Given the description of an element on the screen output the (x, y) to click on. 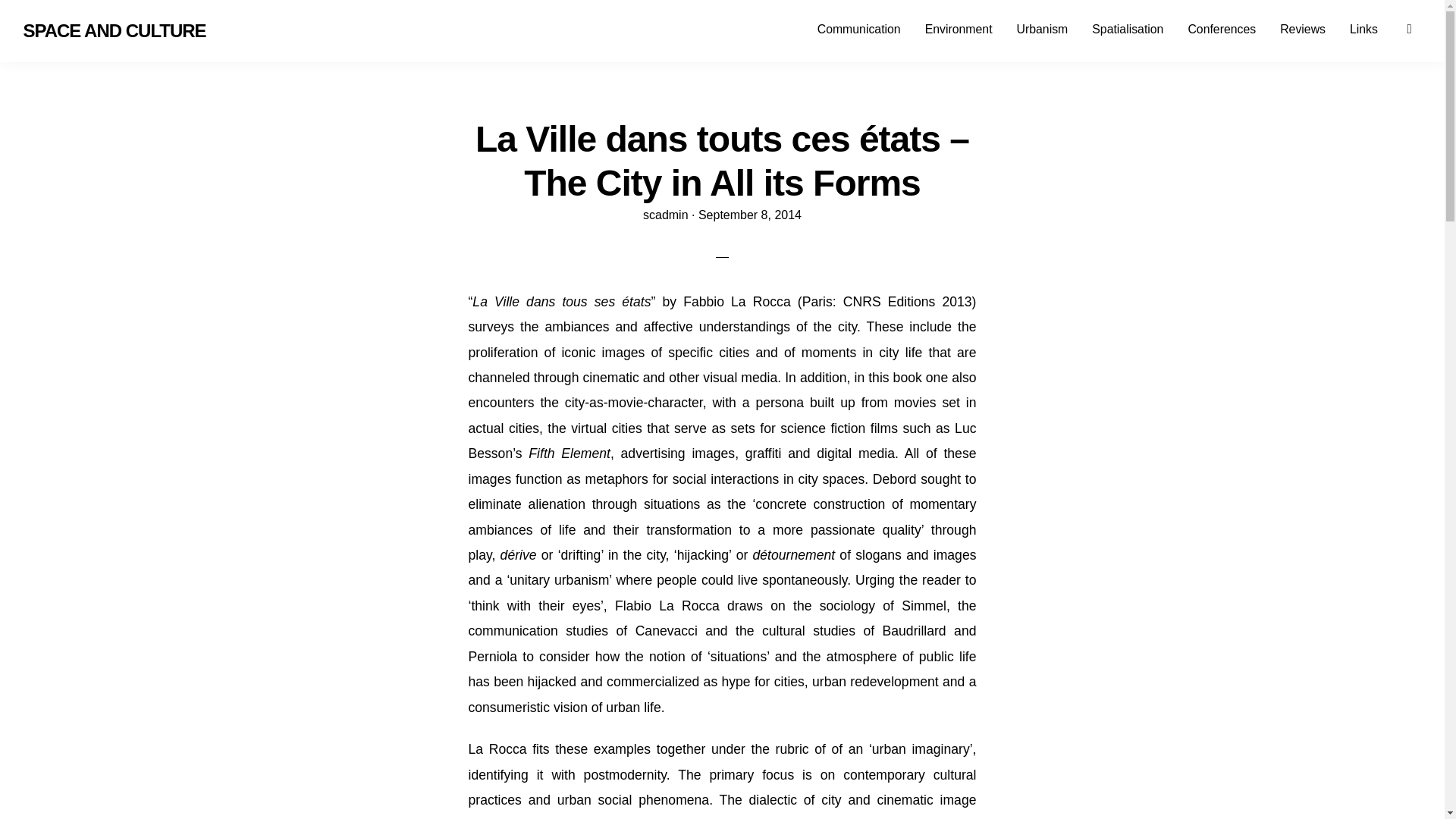
SPACE AND CULTURE (113, 32)
Conferences (1221, 28)
Reviews (1303, 28)
Urbanism (1042, 28)
Environment (958, 28)
Search (1418, 27)
Links (1364, 28)
Communication (858, 28)
SPACE AND CULTURE -  (113, 32)
Spatialisation (1127, 28)
